Given the description of an element on the screen output the (x, y) to click on. 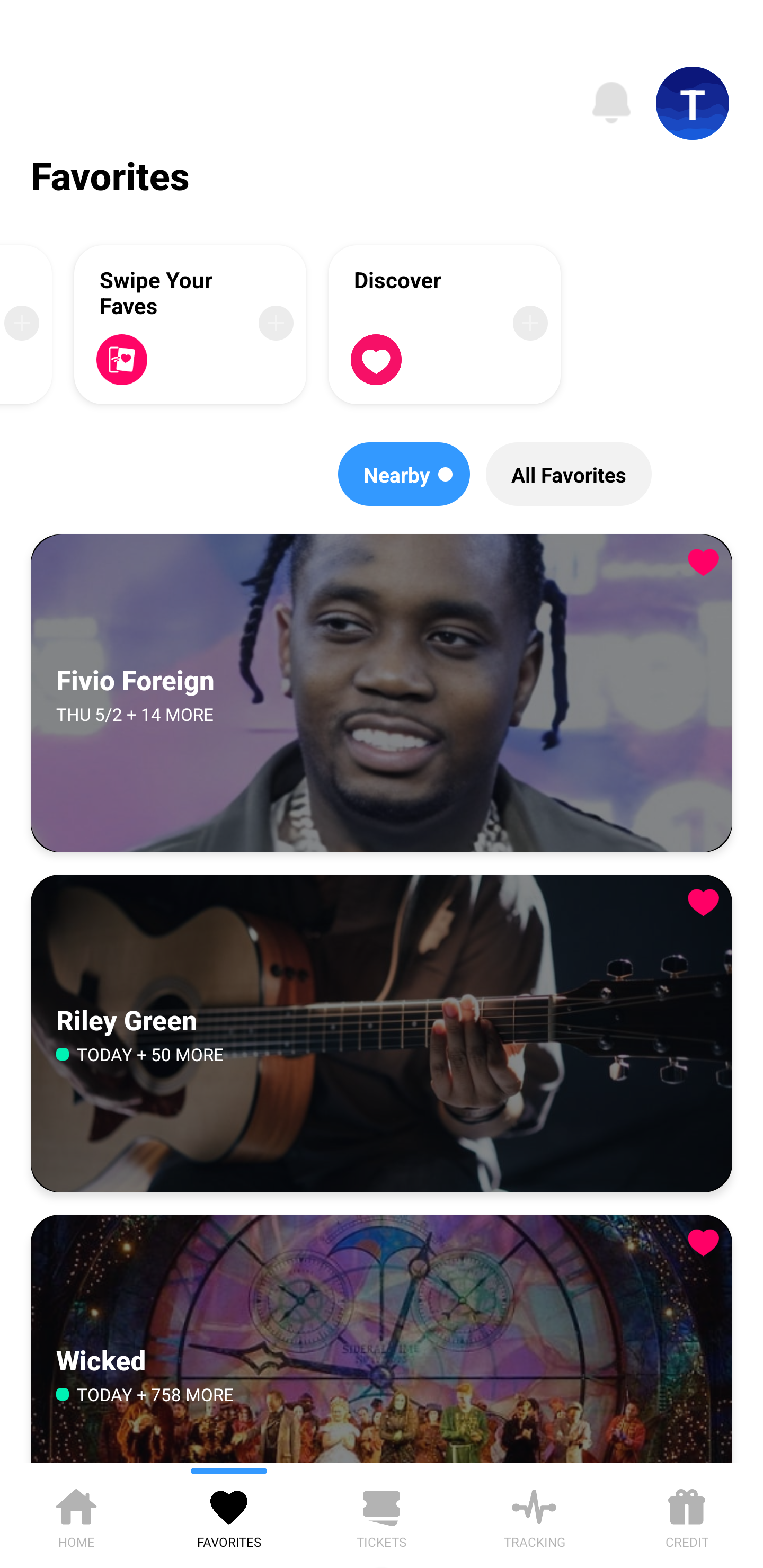
T (692, 103)
Swipe Your  Faves (189, 324)
Discover (444, 324)
Nearby (404, 474)
All Favorites (568, 474)
Wicked, TODAY + 758 MORE  Wicked TODAY + 758 MORE  (381, 1338)
HOME (76, 1515)
FAVORITES (228, 1515)
TICKETS (381, 1515)
TRACKING (533, 1515)
CREDIT (686, 1515)
